Given the description of an element on the screen output the (x, y) to click on. 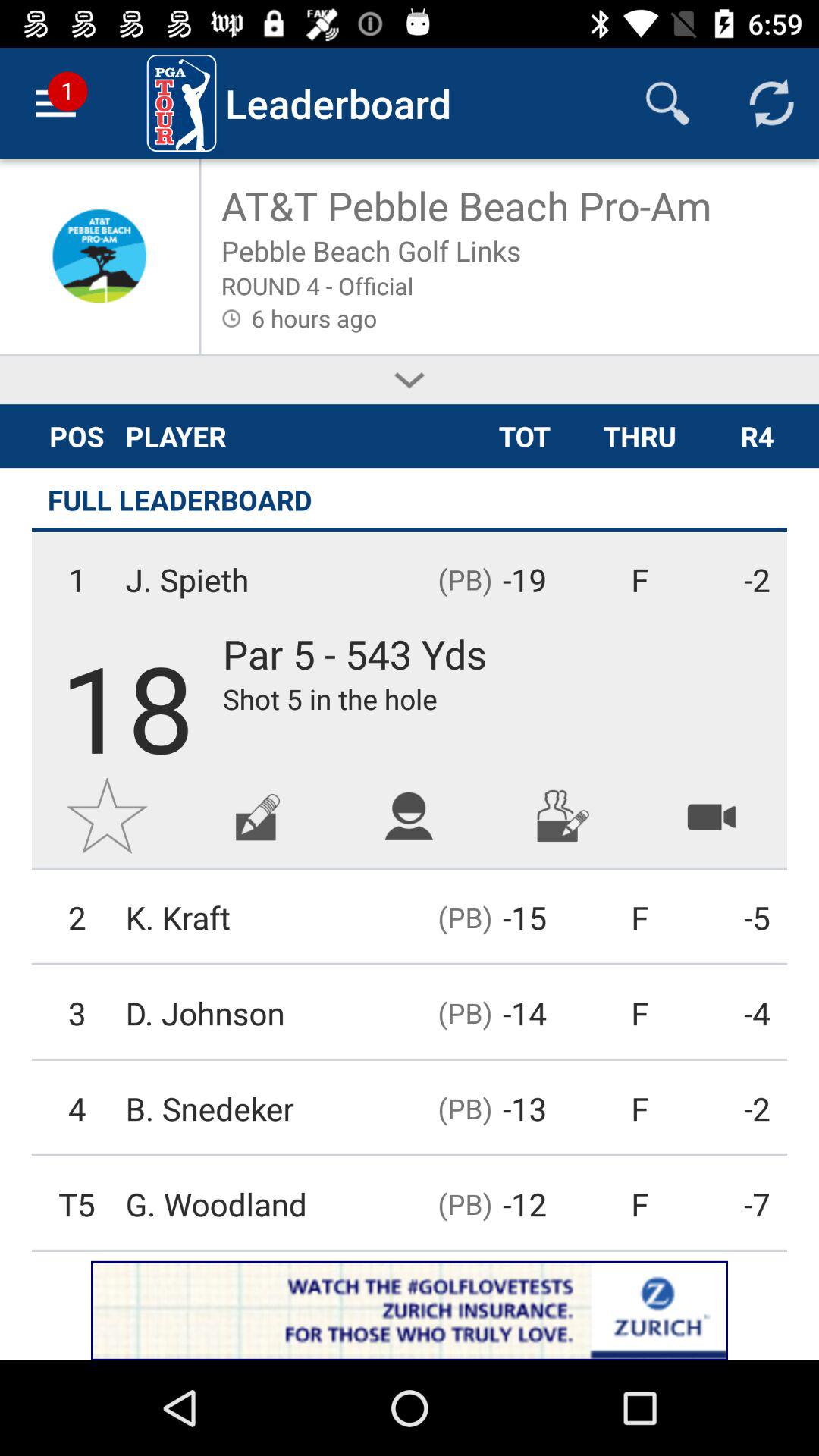
view more (409, 380)
